Given the description of an element on the screen output the (x, y) to click on. 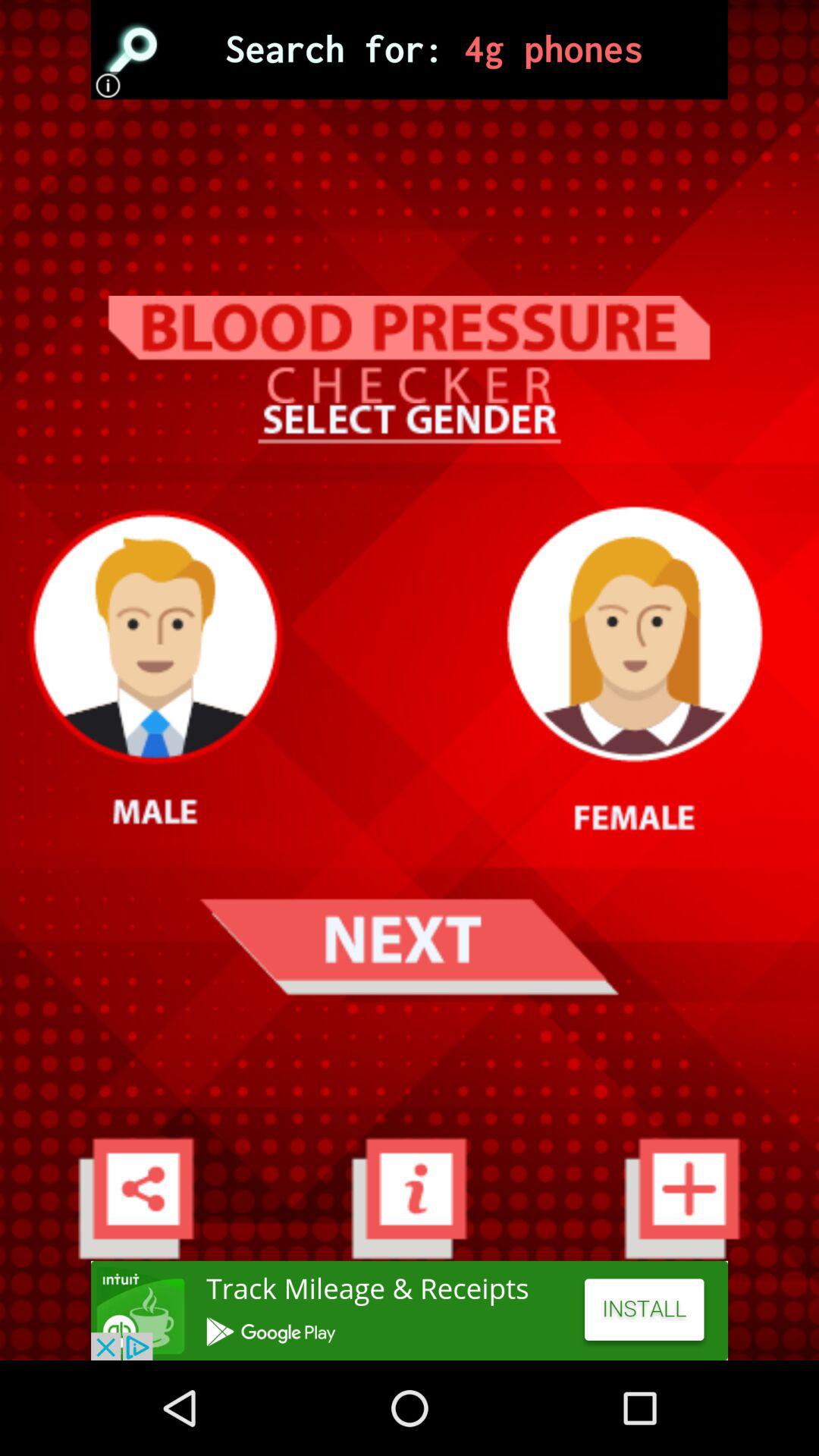
for notification (408, 1197)
